Given the description of an element on the screen output the (x, y) to click on. 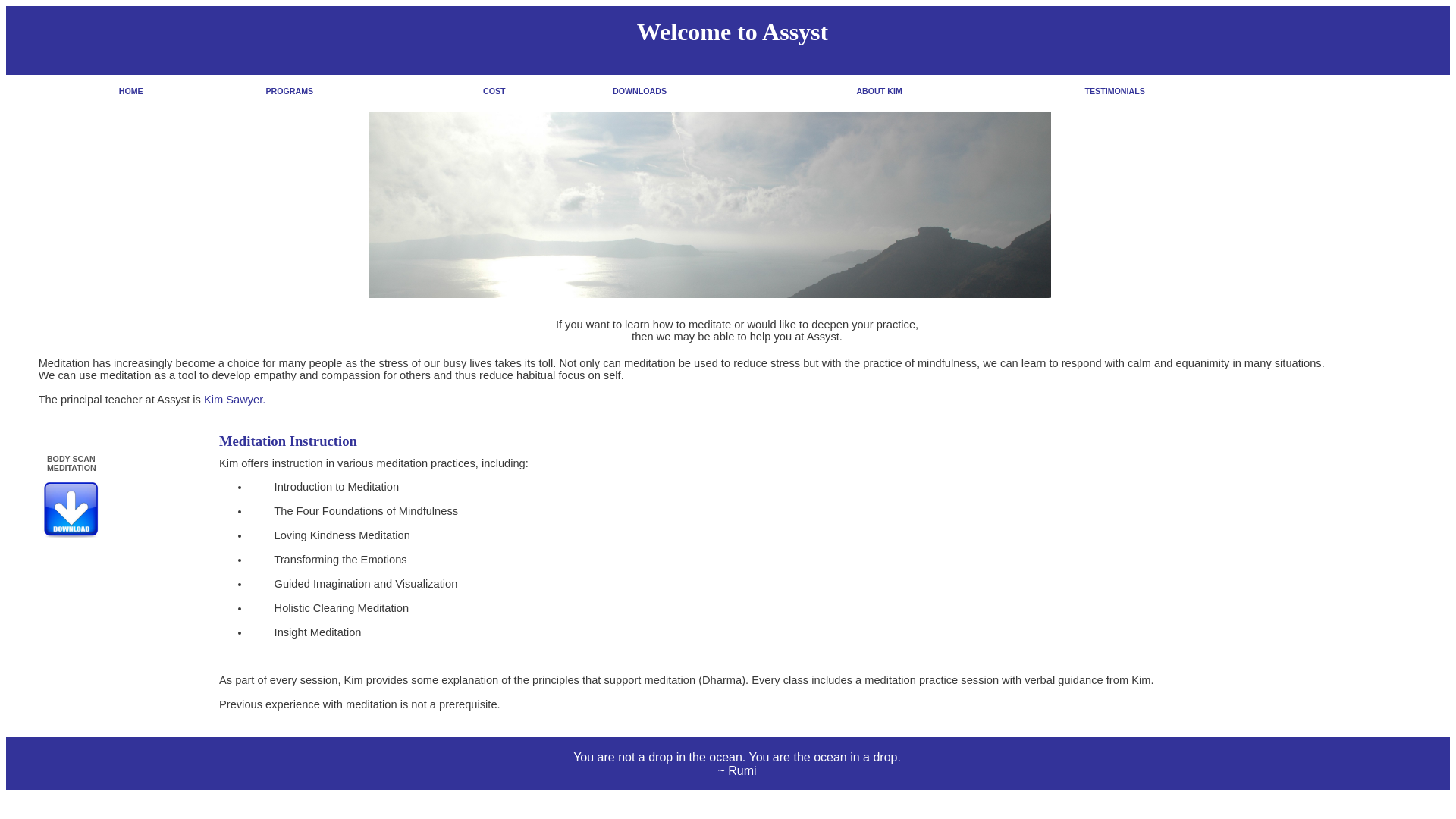
ABOUT KIM Element type: text (879, 90)
COST Element type: text (494, 90)
PROGRAMS Element type: text (289, 90)
Kim Sawyer. Element type: text (234, 399)
HOME Element type: text (131, 90)
  Element type: text (905, 90)
TESTIMONIALS Element type: text (1114, 90)
DOWNLOADS Element type: text (639, 90)
